Given the description of an element on the screen output the (x, y) to click on. 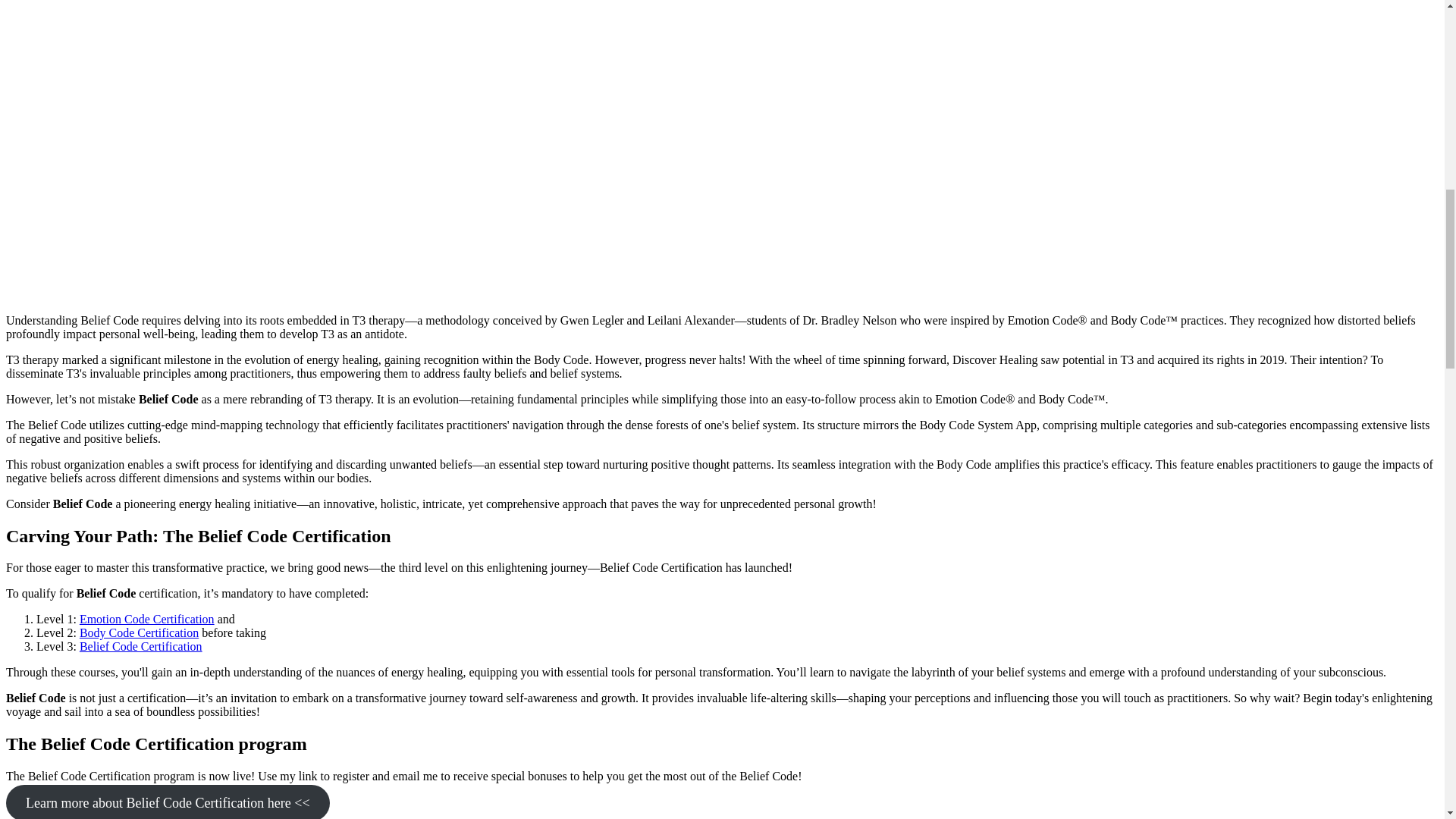
The Belief Code: A New Era In Healing 2 (152, 151)
Emotion Code Certification (147, 618)
Body Code Certification (139, 632)
Belief Code Certification (141, 645)
